Given the description of an element on the screen output the (x, y) to click on. 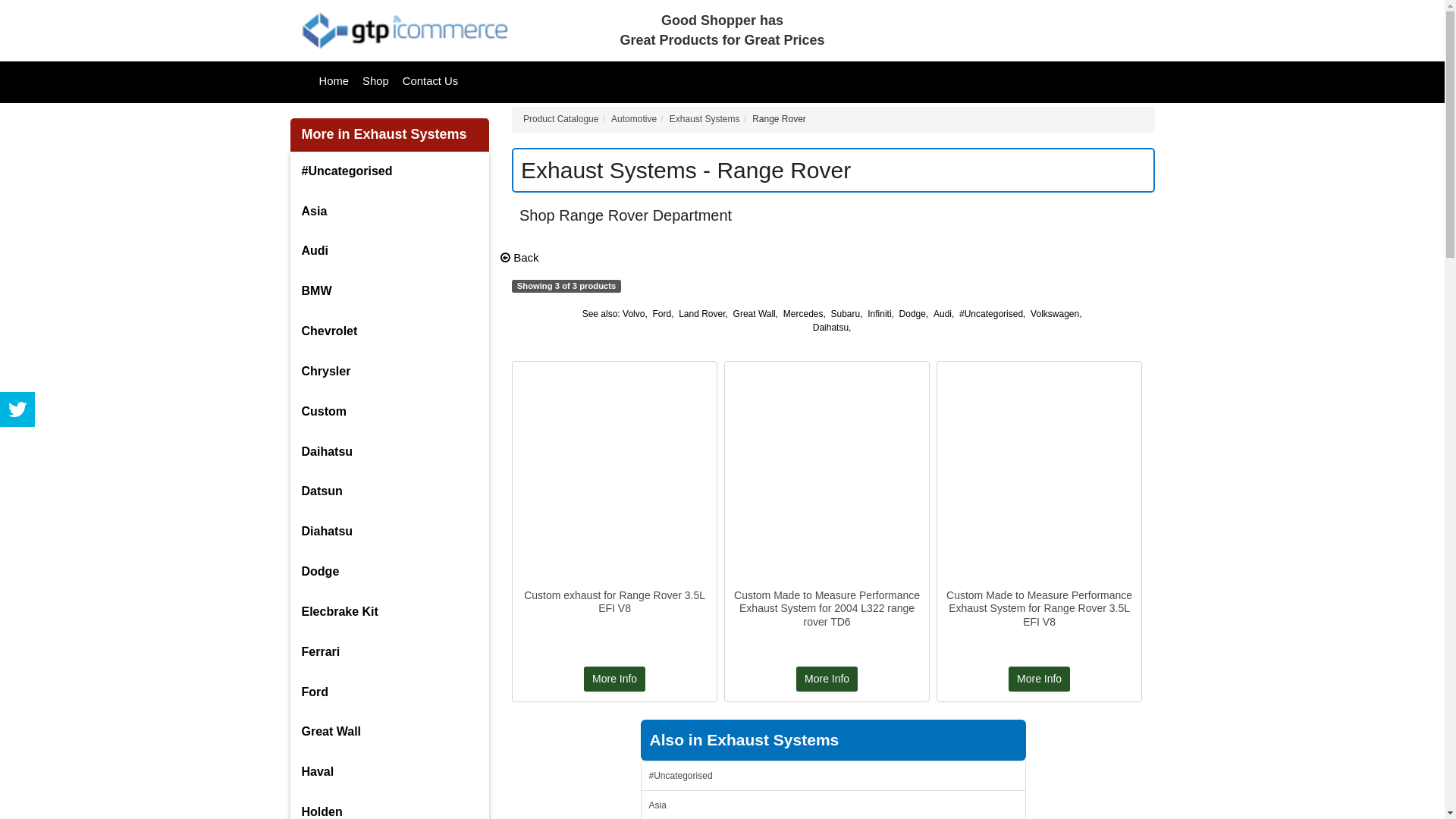
More Info Element type: text (826, 678)
Custom exhaust for Range Rover 3.5L EFI V8 Element type: text (614, 602)
Home Element type: text (333, 81)
Exhaust Systems Element type: text (704, 118)
More Info Element type: text (1039, 678)
Mercedes Element type: text (803, 313)
Volvo Element type: text (633, 313)
Ford Element type: text (661, 313)
Ferrari Element type: text (389, 652)
Subaru Element type: text (845, 313)
Great Wall Element type: text (389, 732)
Haval Element type: text (389, 772)
Infiniti Element type: text (879, 313)
Elecbrake Kit Element type: text (389, 612)
Diahatsu Element type: text (389, 531)
#Uncategorised Element type: text (389, 171)
#Uncategorised Element type: text (990, 313)
Chevrolet Element type: text (389, 331)
Volkswagen Element type: text (1054, 313)
Daihatsu Element type: text (389, 452)
More Info Element type: text (614, 678)
Dodge Element type: text (389, 572)
GTP iCommerce Pty Ltd Twitter Element type: hover (17, 409)
BMW Element type: text (389, 291)
Audi Element type: text (389, 251)
Product Catalogue Element type: text (560, 118)
Audi Element type: text (942, 313)
Great Wall Element type: text (754, 313)
Chrysler Element type: text (389, 371)
Dodge Element type: text (912, 313)
Automotive Element type: text (633, 118)
Ford Element type: text (389, 692)
Contact Us Element type: text (430, 81)
Datsun Element type: text (389, 491)
Custom Element type: text (389, 412)
#Uncategorised Element type: text (833, 775)
Asia Element type: text (389, 211)
 Back Element type: text (519, 257)
Daihatsu Element type: text (830, 327)
Shop Element type: text (375, 81)
Land Rover Element type: text (701, 313)
